Given the description of an element on the screen output the (x, y) to click on. 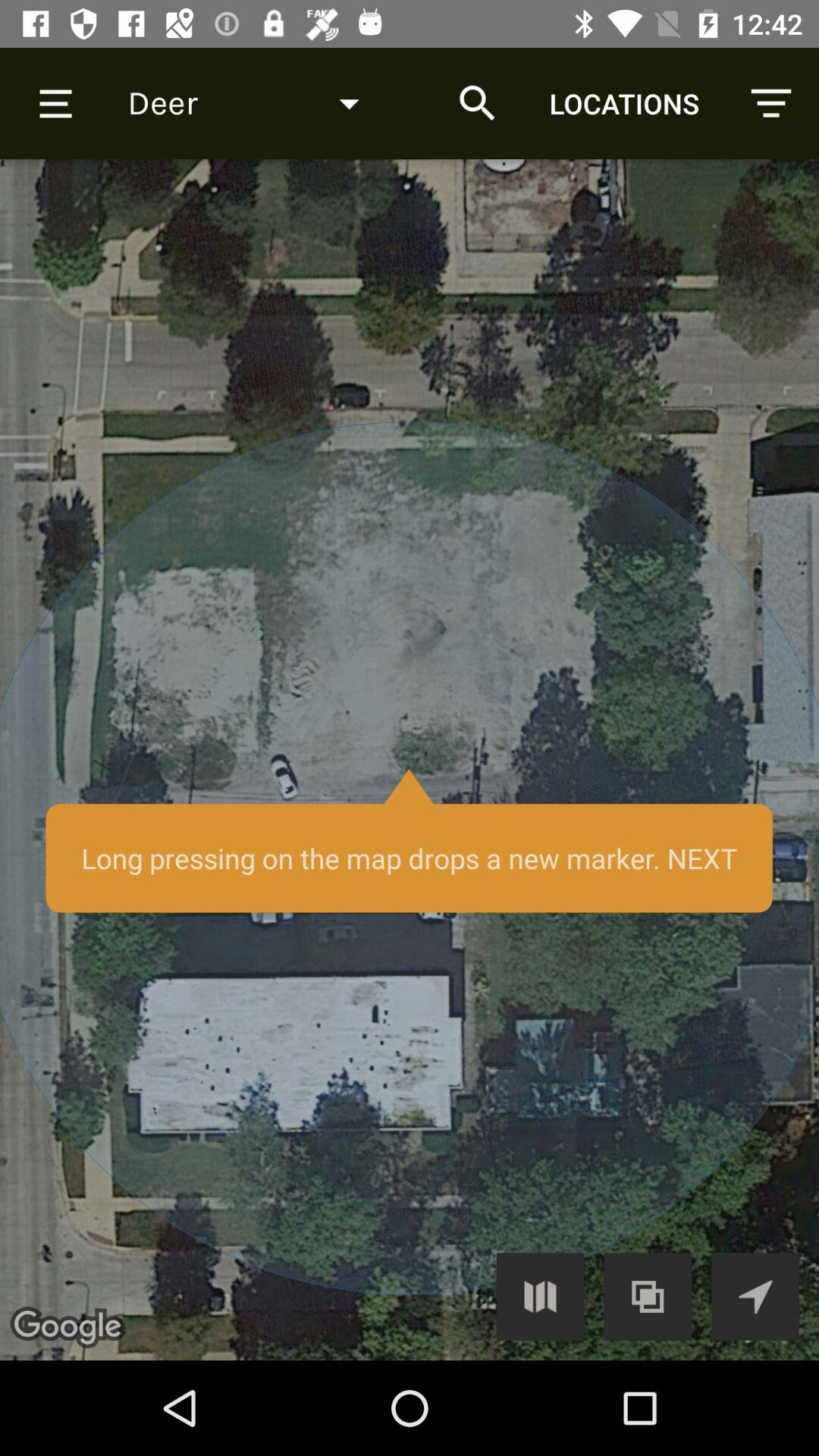
my location (755, 1296)
